Given the description of an element on the screen output the (x, y) to click on. 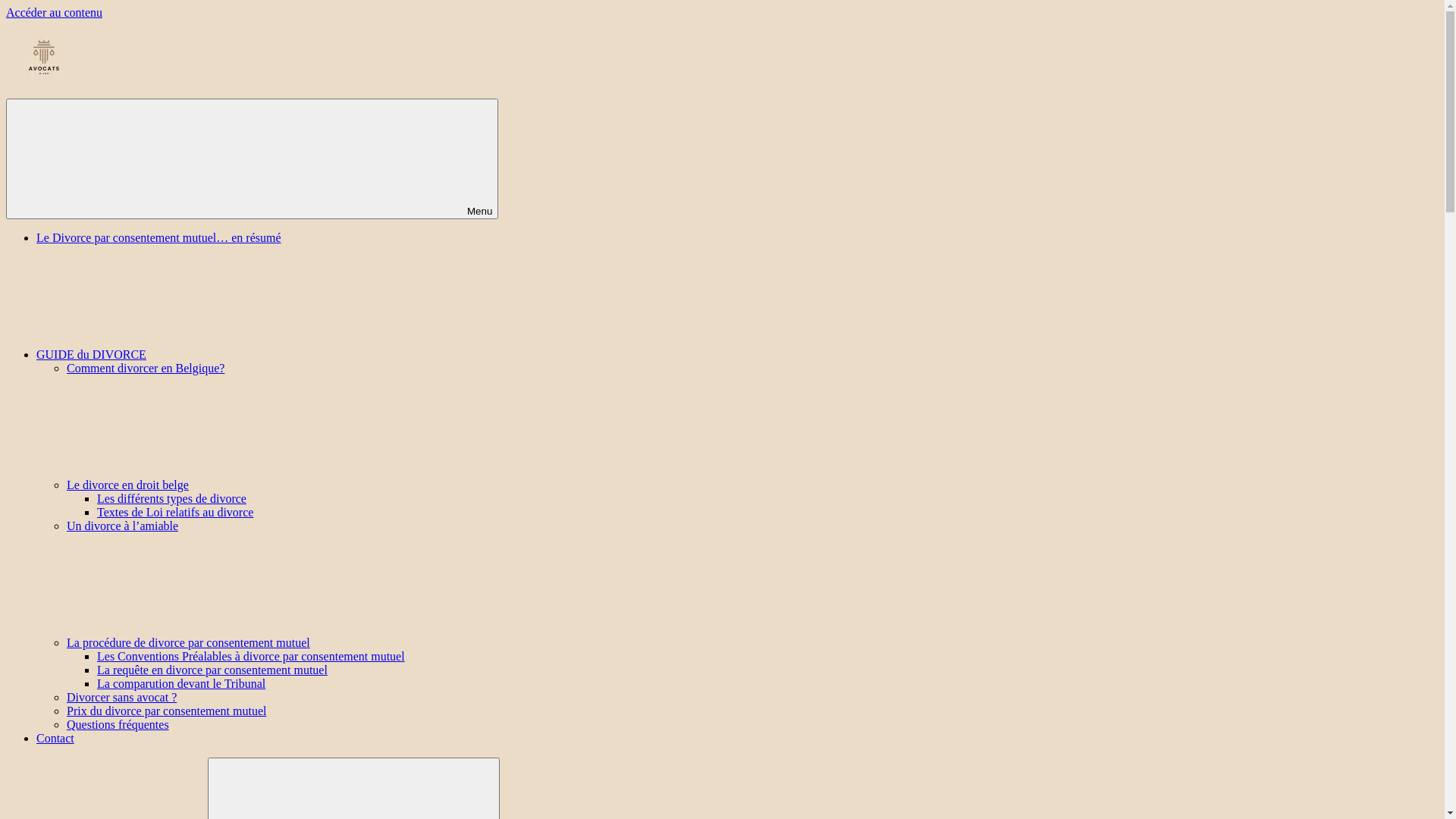
Avocats D. Lex Element type: text (43, 116)
Le divorce en droit belge Element type: text (241, 484)
Comment divorcer en Belgique? Element type: text (145, 367)
Menu Element type: text (252, 158)
GUIDE du DIVORCE Element type: text (204, 354)
La comparution devant le Tribunal Element type: text (181, 683)
Contact Element type: text (55, 737)
Prix du divorce par consentement mutuel Element type: text (166, 710)
Divorcer sans avocat ? Element type: text (121, 696)
Textes de Loi relatifs au divorce Element type: text (175, 511)
